Given the description of an element on the screen output the (x, y) to click on. 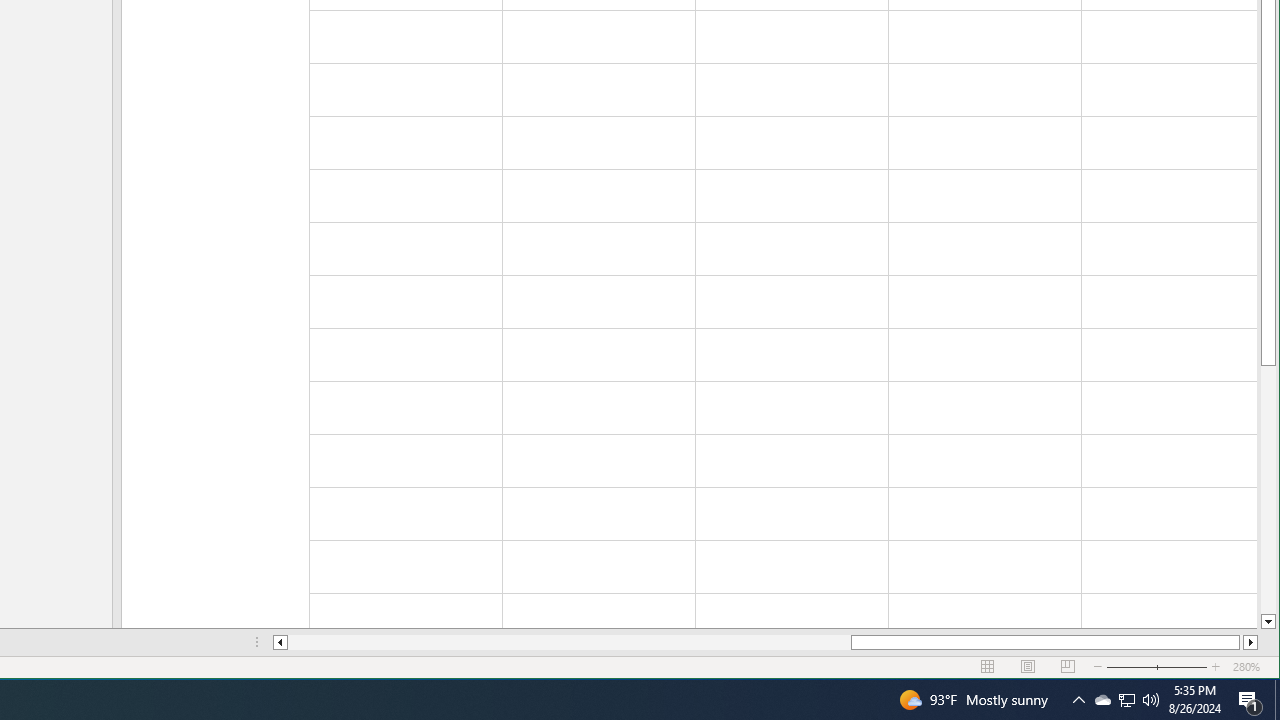
Line down (1268, 622)
Show desktop (1277, 699)
Q2790: 100% (1151, 699)
Notification Chevron (1078, 699)
Action Center, 1 new notification (1250, 699)
Page left (569, 642)
